Given the description of an element on the screen output the (x, y) to click on. 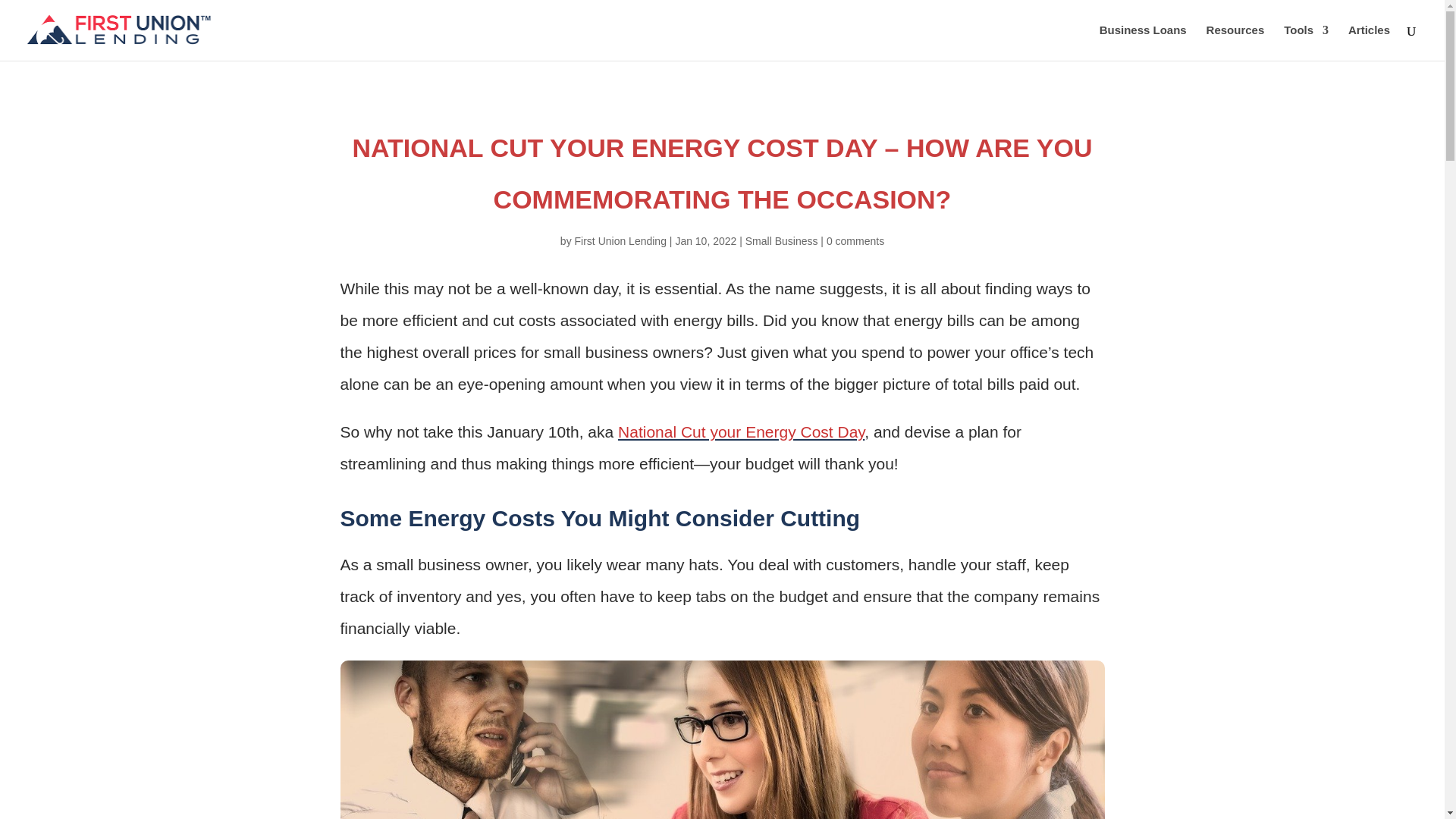
0 comments (855, 241)
Articles (1369, 42)
Resources (1236, 42)
National Cut your Energy Cost Day (740, 431)
Small Business (781, 241)
Tools (1305, 42)
Business Loans (1142, 42)
Posts by First Union Lending (620, 241)
First Union Lending (620, 241)
